Given the description of an element on the screen output the (x, y) to click on. 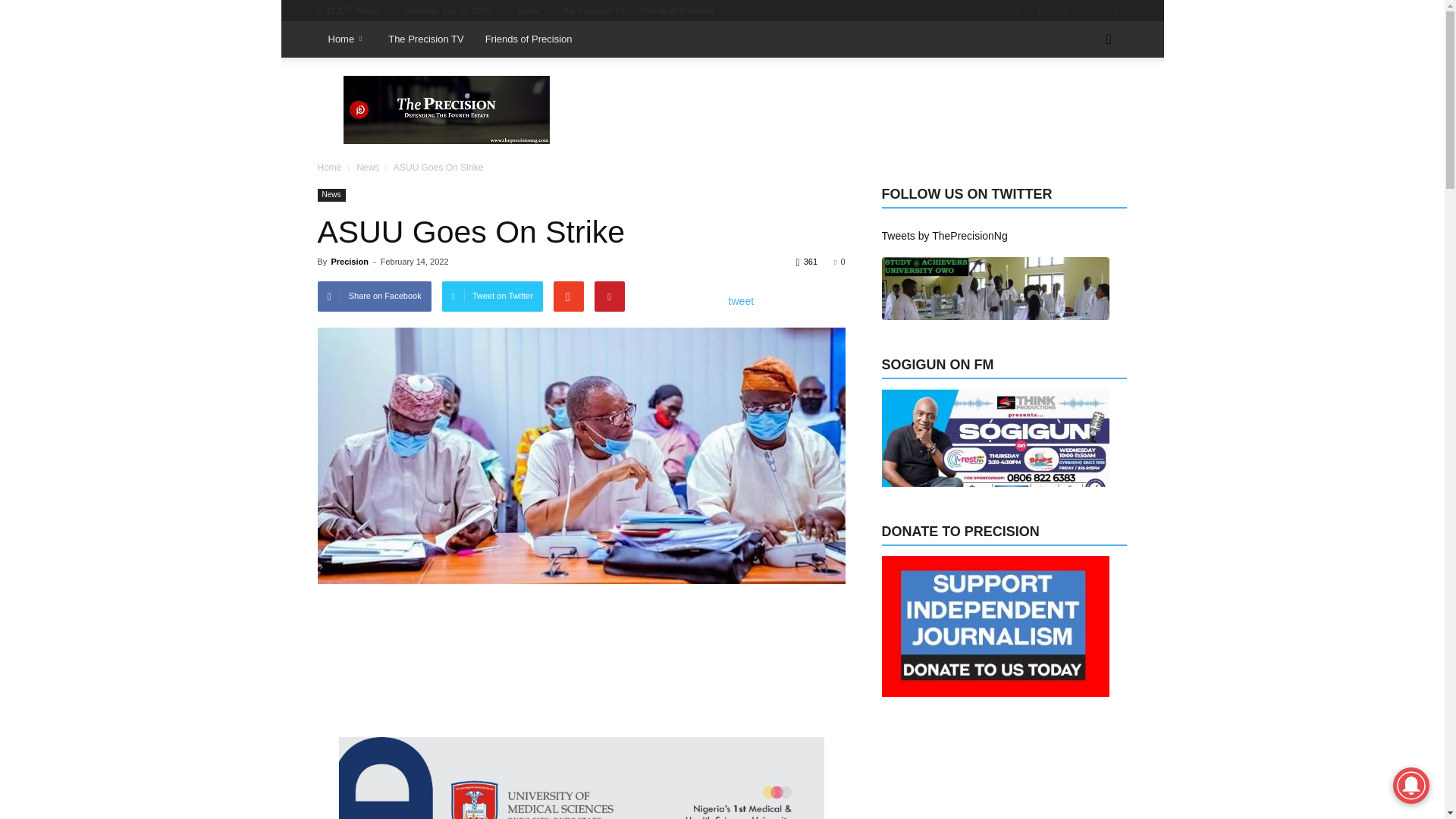
Advertisement (850, 110)
Home (347, 39)
The Precision TV (592, 10)
Twitter (1090, 10)
View all posts in News (368, 167)
Friends of Precision (676, 10)
Facebook (1015, 10)
Home (532, 10)
Youtube (1114, 10)
Pinterest (1065, 10)
Instagram (1040, 10)
